Given the description of an element on the screen output the (x, y) to click on. 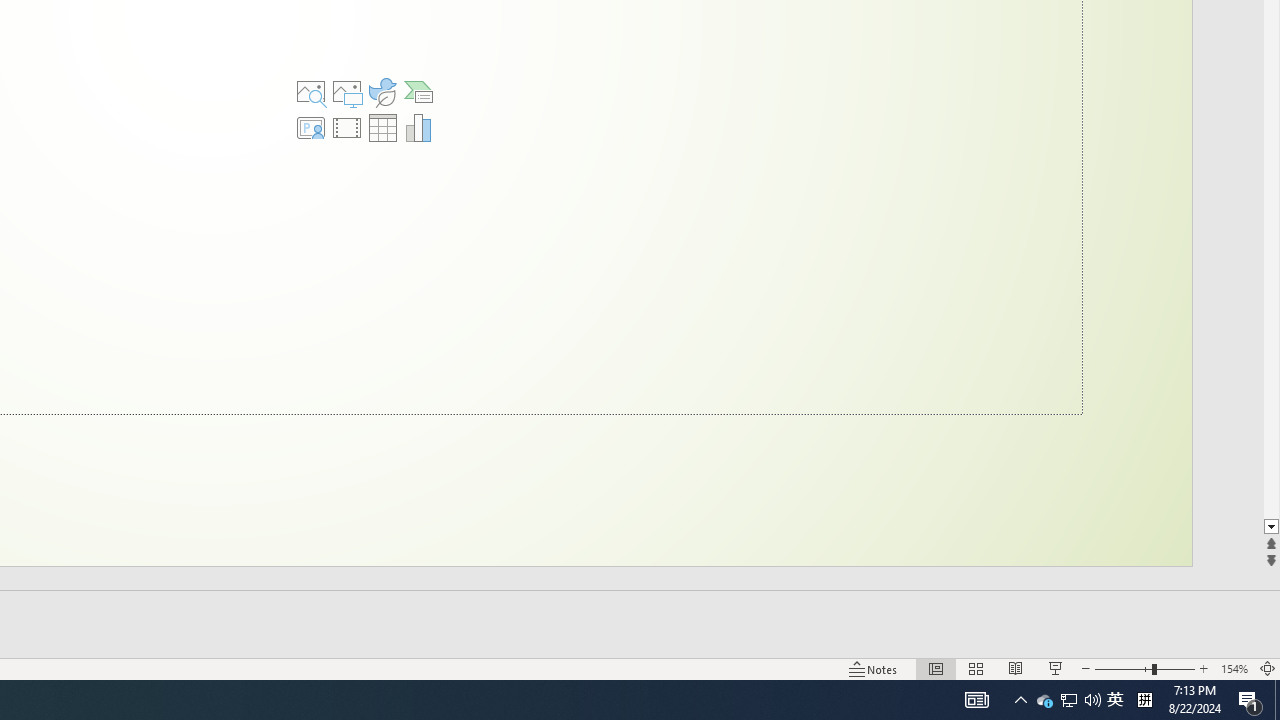
Insert Table (383, 128)
Insert Chart (419, 128)
Stock Images (310, 92)
Insert Cameo (310, 128)
Insert Video (347, 128)
Insert a SmartArt Graphic (419, 92)
Zoom 154% (1234, 668)
